Given the description of an element on the screen output the (x, y) to click on. 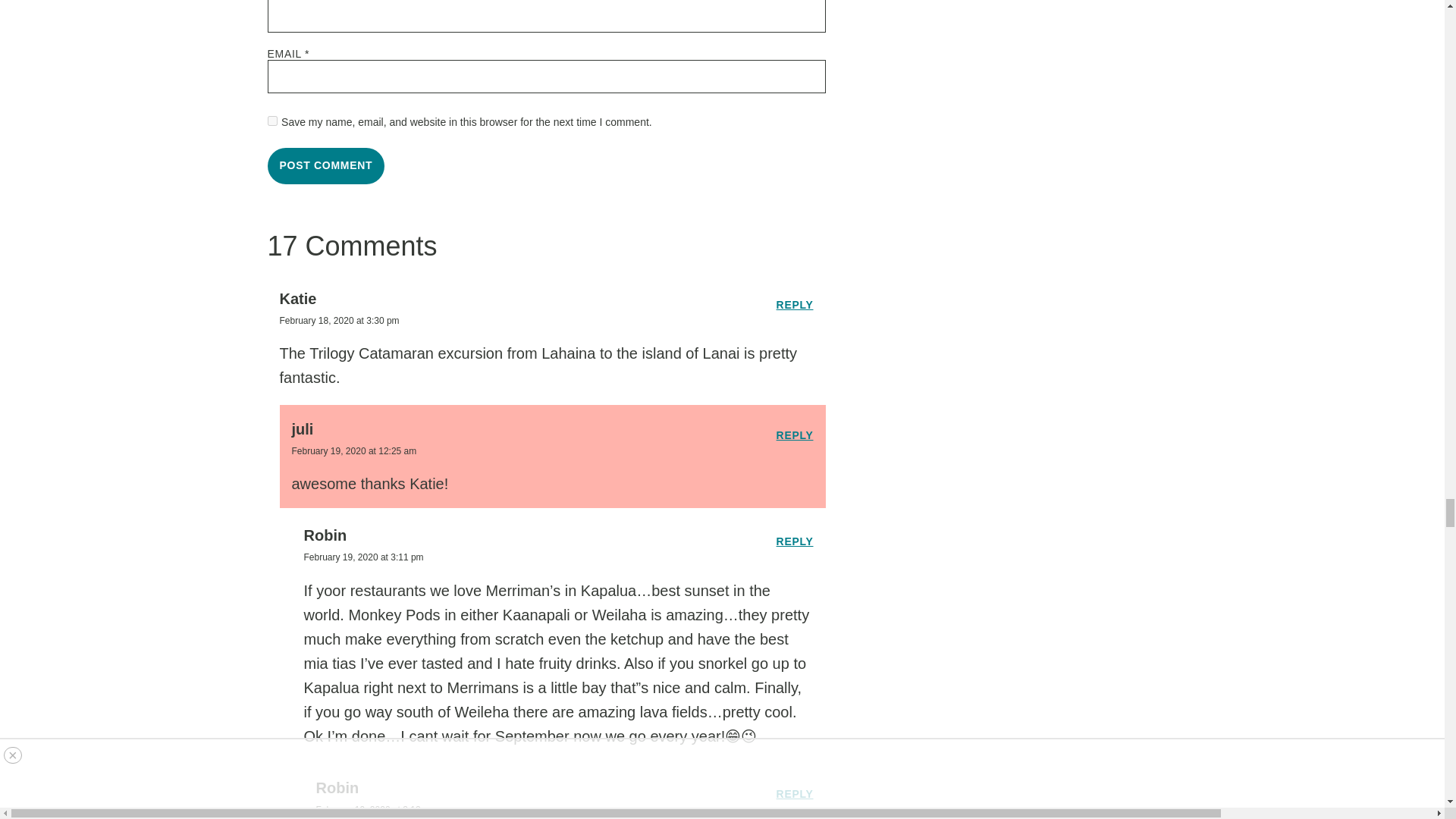
Post Comment (325, 166)
yes (271, 121)
